Given the description of an element on the screen output the (x, y) to click on. 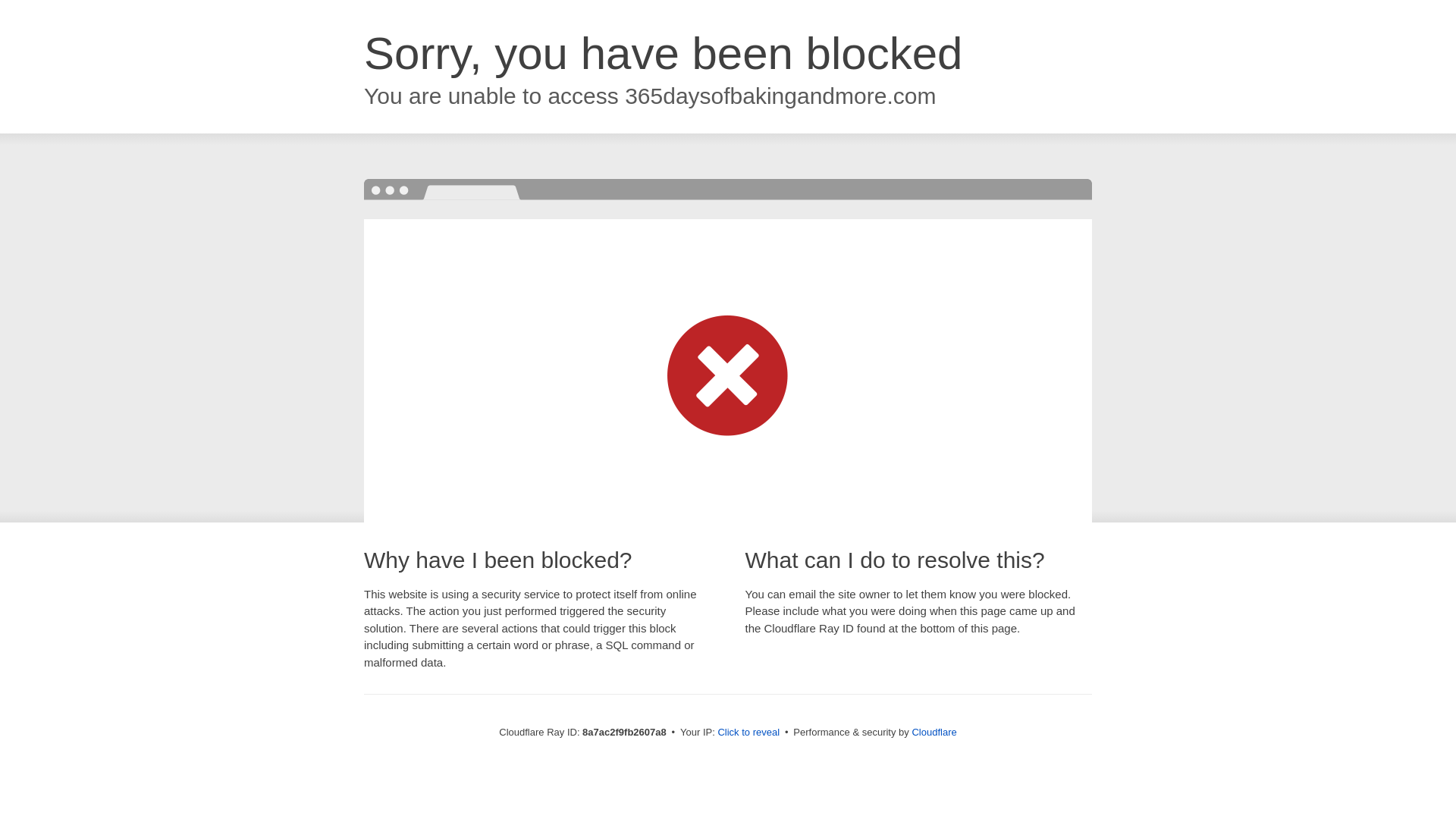
Cloudflare (933, 731)
Click to reveal (747, 732)
